Given the description of an element on the screen output the (x, y) to click on. 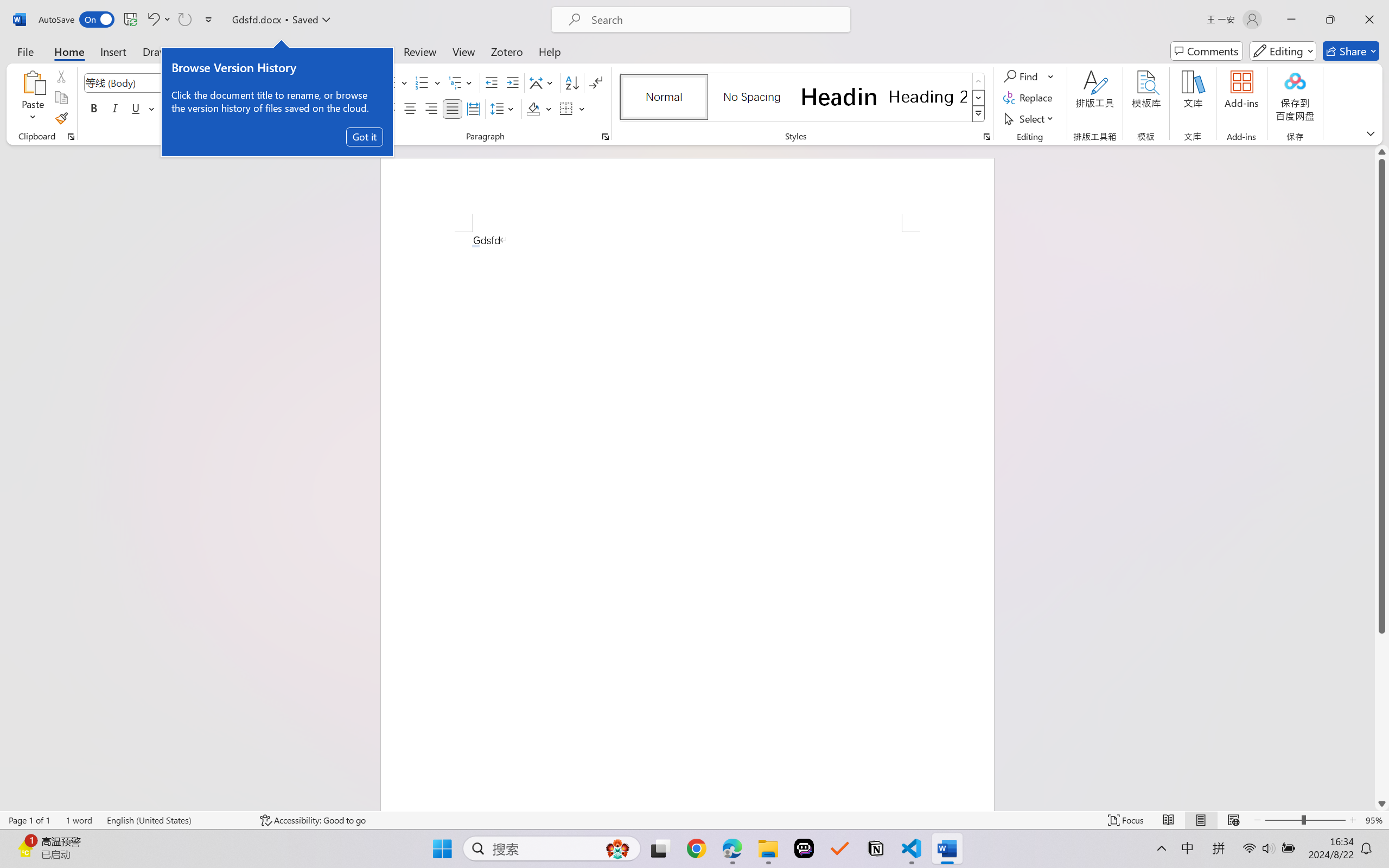
Bold (94, 108)
Class: NetUIScrollBar (1382, 477)
Undo AutoCorrect (152, 19)
